Given the description of an element on the screen output the (x, y) to click on. 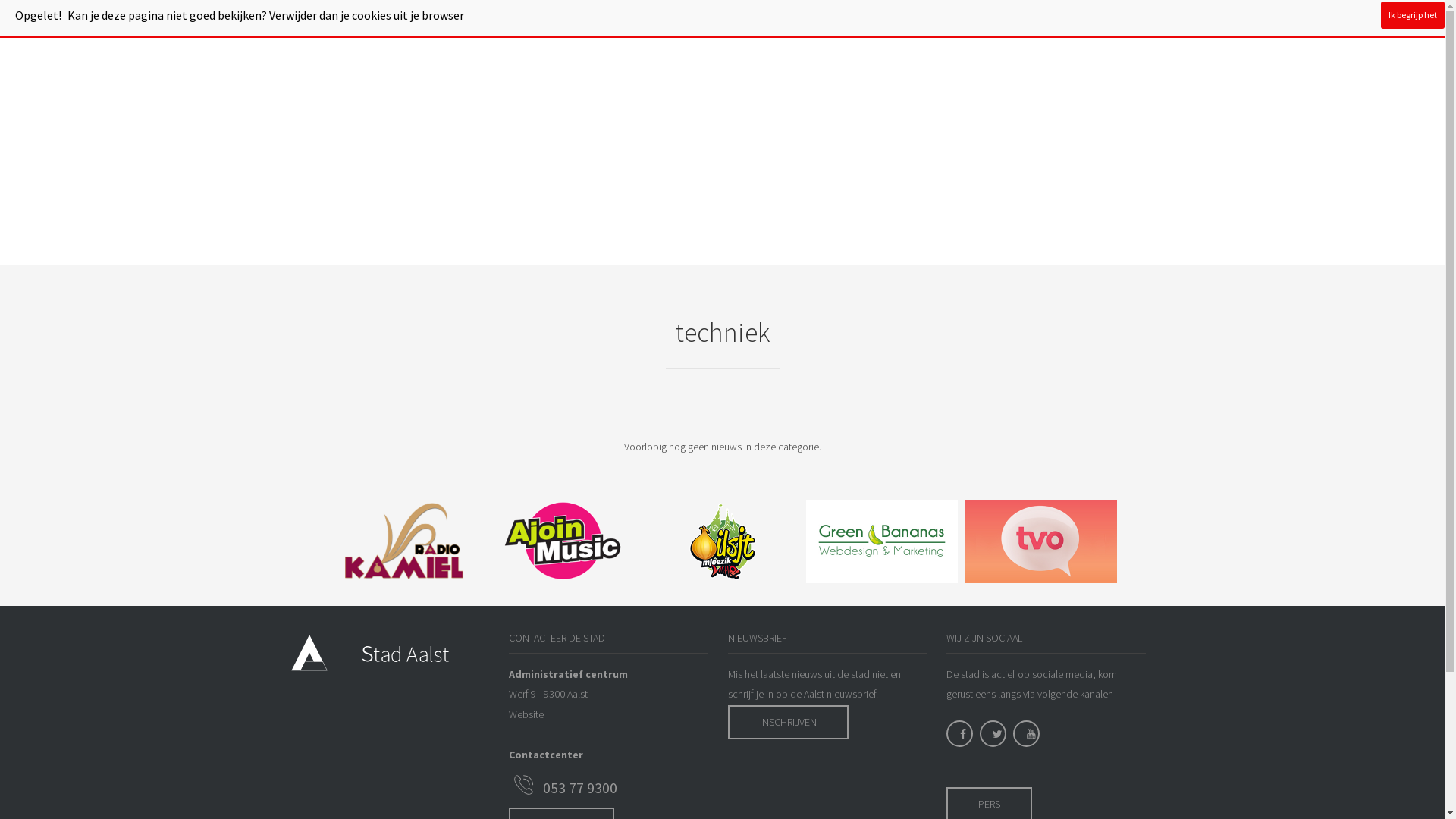
PROGRAMMA Element type: text (461, 19)
PRAKTISCH Element type: text (725, 19)
MEDIA Element type: text (882, 19)
Website Element type: text (525, 714)
CARNAVALSGROEPEN Element type: text (562, 19)
Ik begrijp het Element type: text (1412, 14)
OVER CARNAVAL Element type: text (809, 19)
INSCHRIJVEN Element type: text (788, 722)
HOME Element type: text (395, 19)
ACADEMIE Element type: text (655, 19)
